Given the description of an element on the screen output the (x, y) to click on. 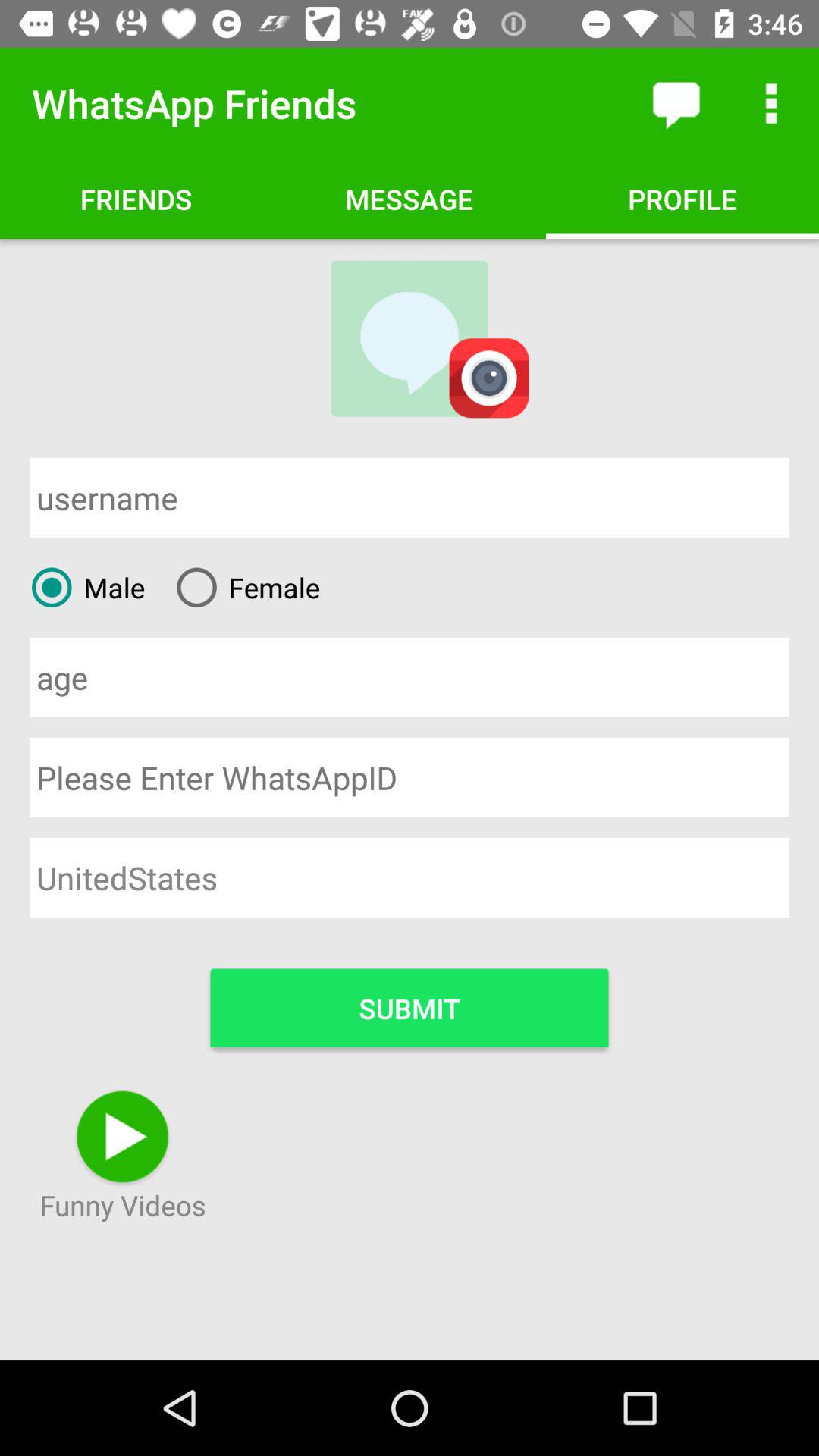
open menu options (771, 103)
